Given the description of an element on the screen output the (x, y) to click on. 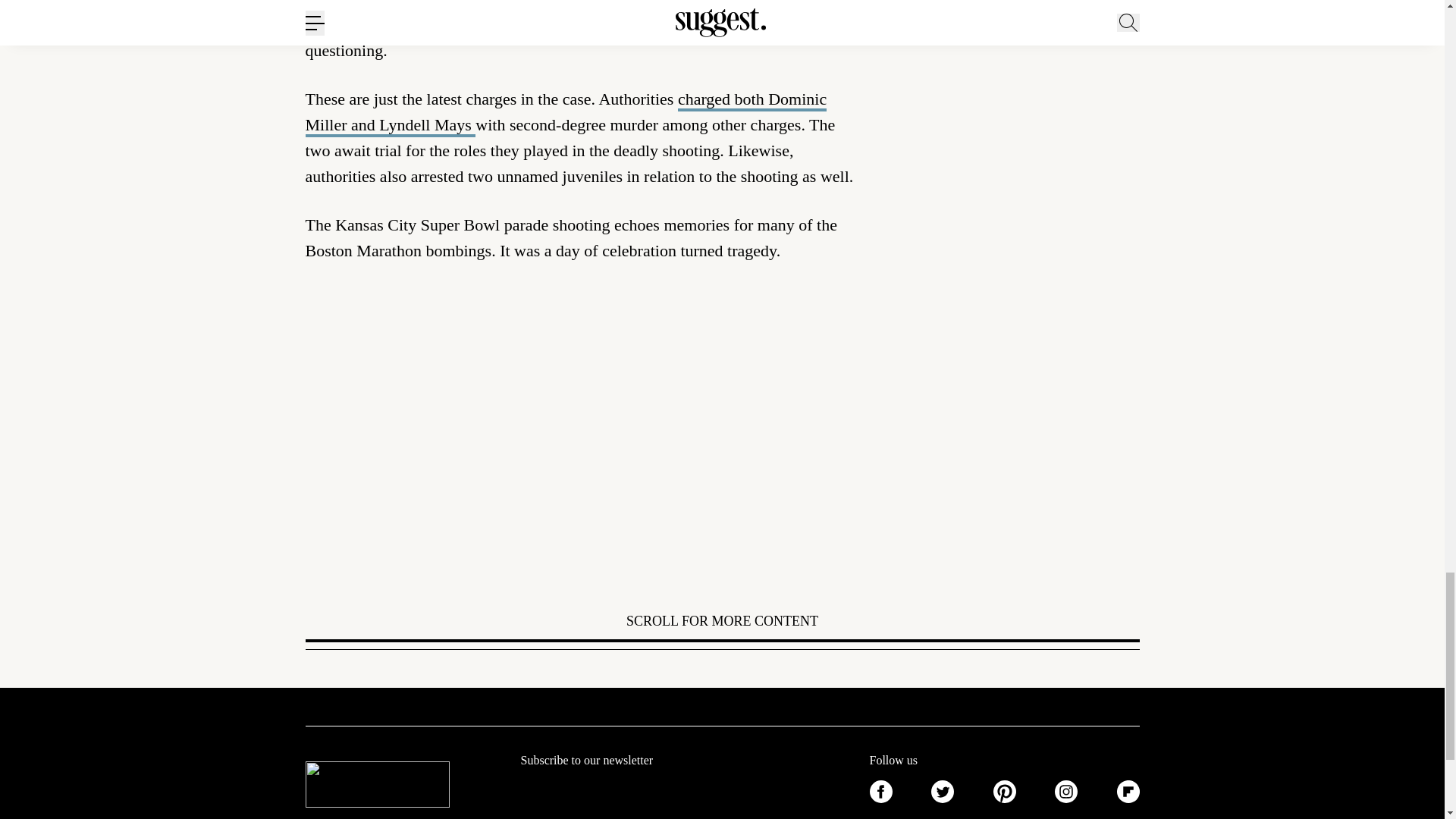
charged both Dominic Miller and Lyndell Mays (565, 113)
